Given the description of an element on the screen output the (x, y) to click on. 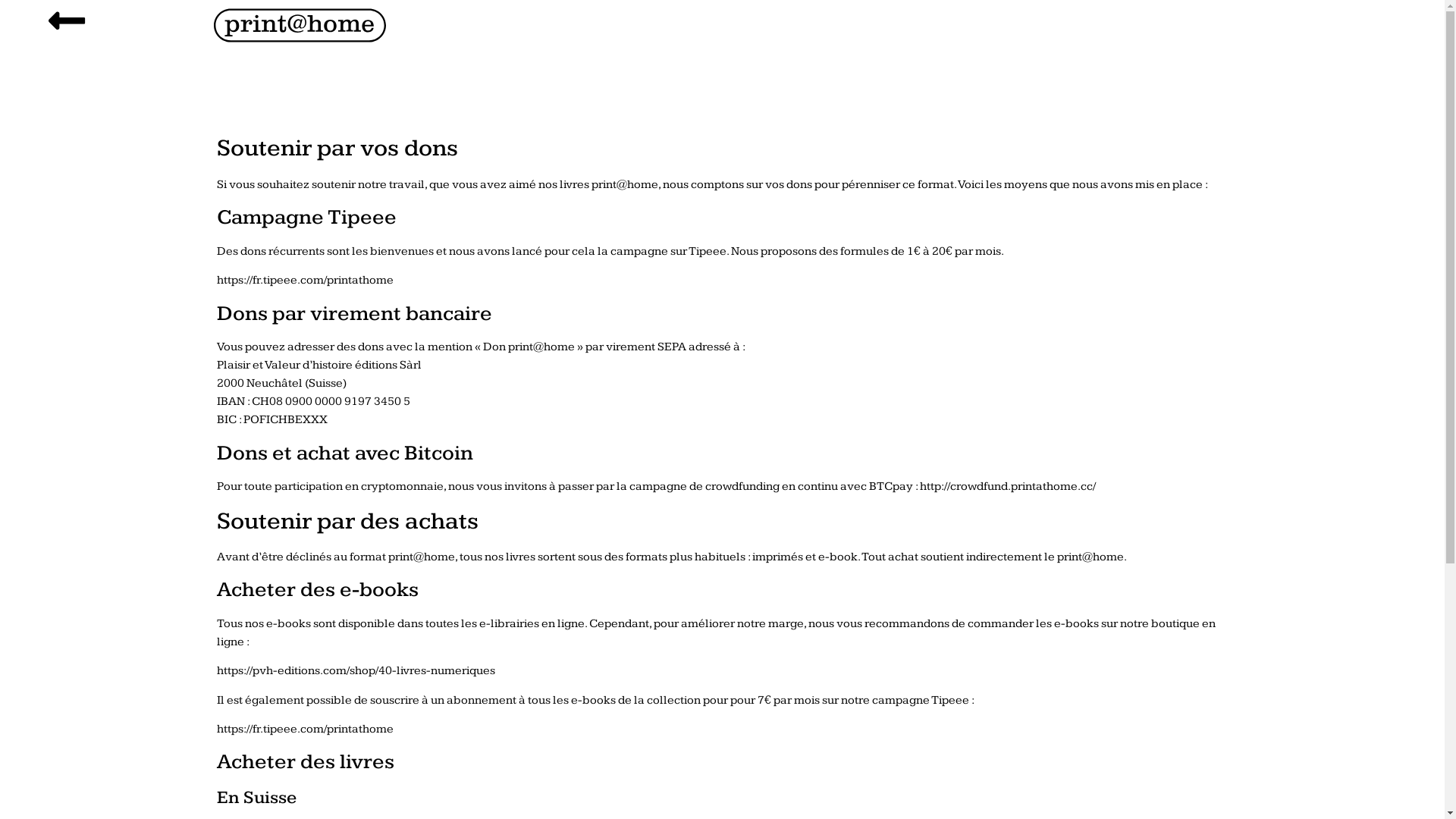
https://fr.tipeee.com/printathome Element type: text (304, 280)
http://crowdfund.printathome.cc/ Element type: text (1007, 486)
https://pvh-editions.com/shop/40-livres-numeriques Element type: text (355, 670)
https://fr.tipeee.com/printathome Element type: text (304, 728)
